Given the description of an element on the screen output the (x, y) to click on. 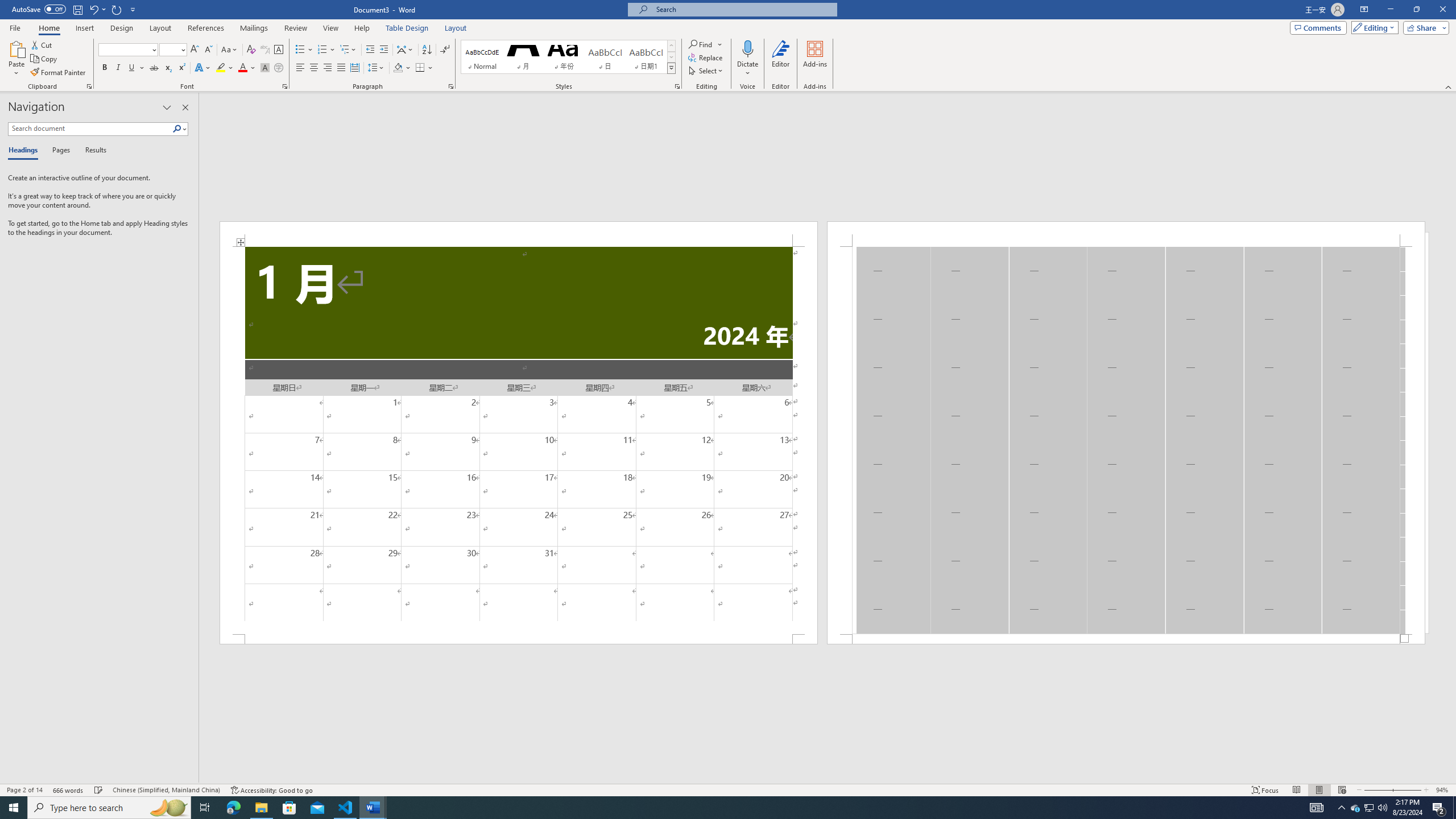
Accessibility Checker Accessibility: Good to go (271, 790)
Collapse the Ribbon (1448, 86)
Layout (455, 28)
Find (705, 44)
AutoSave (38, 9)
Header -Section 1- (1126, 233)
Comments (1318, 27)
Character Shading (264, 67)
